Given the description of an element on the screen output the (x, y) to click on. 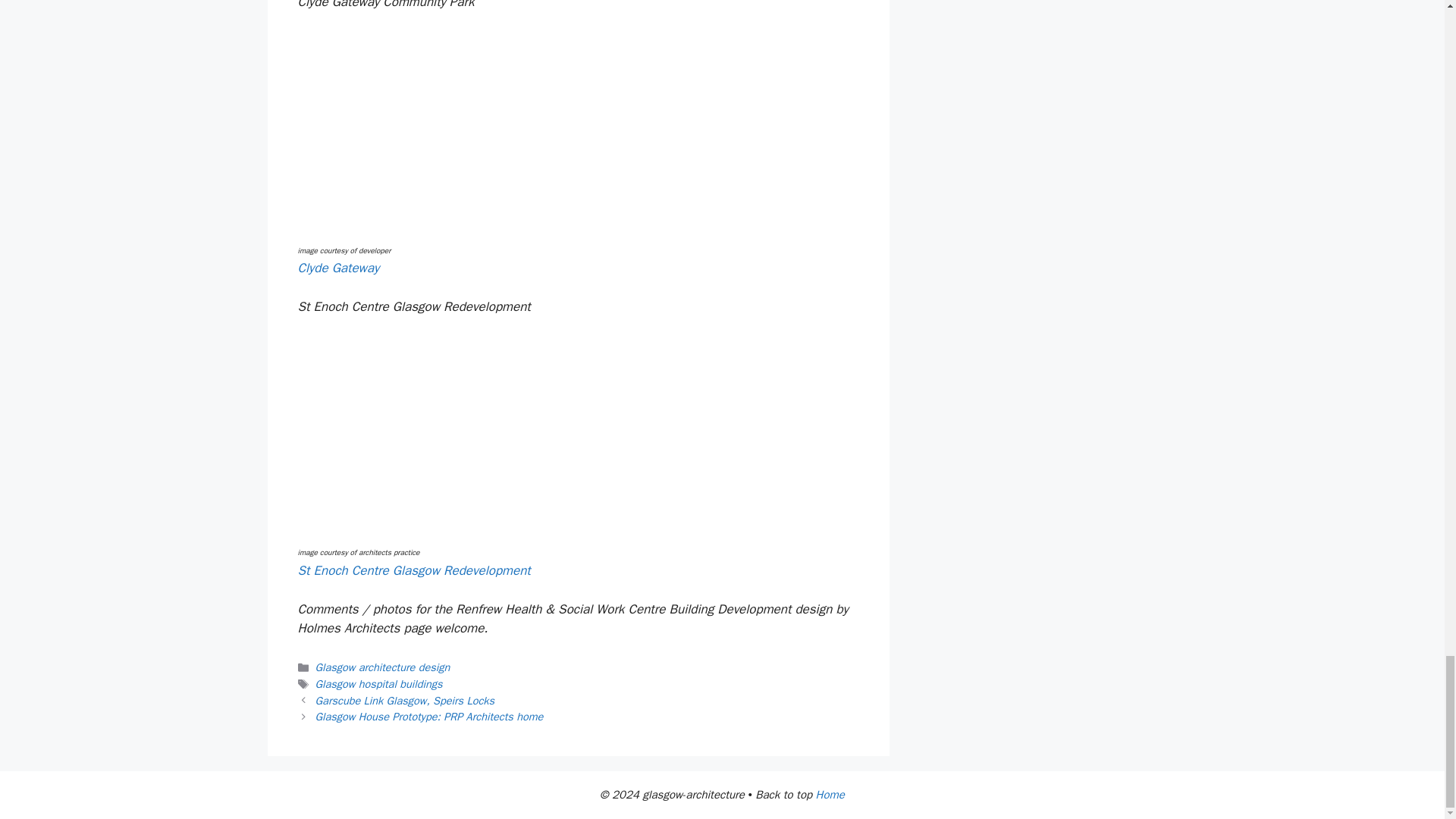
St Enoch Centre Glasgow Redevelopment (413, 570)
Glasgow architecture design (382, 667)
Garscube Link Glasgow, Speirs Locks (405, 700)
Glasgow House Prototype: PRP Architects home (429, 716)
Home (829, 794)
Glasgow hospital buildings (378, 684)
Clyde Gateway (337, 268)
